Given the description of an element on the screen output the (x, y) to click on. 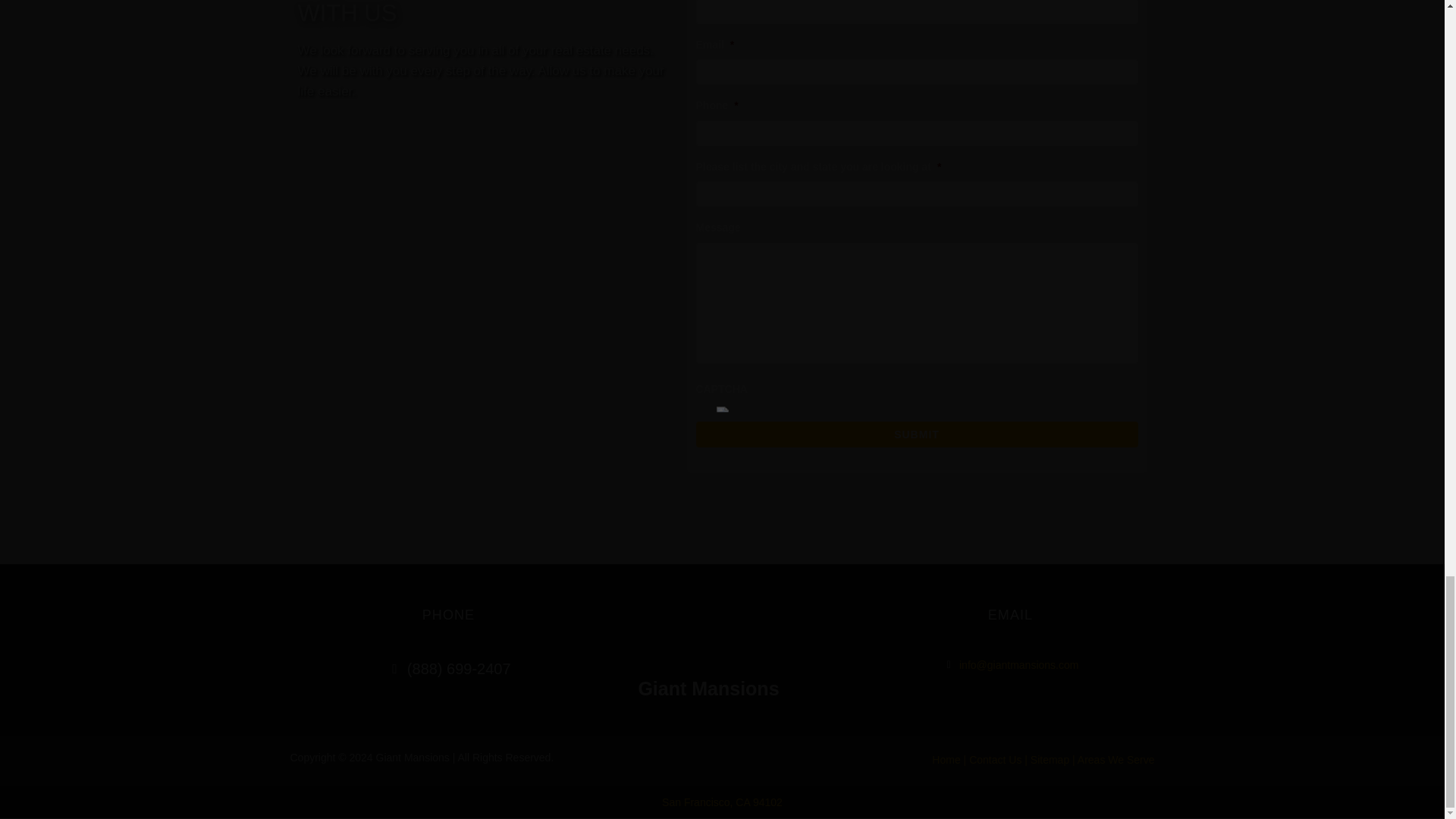
Submit (916, 434)
